Given the description of an element on the screen output the (x, y) to click on. 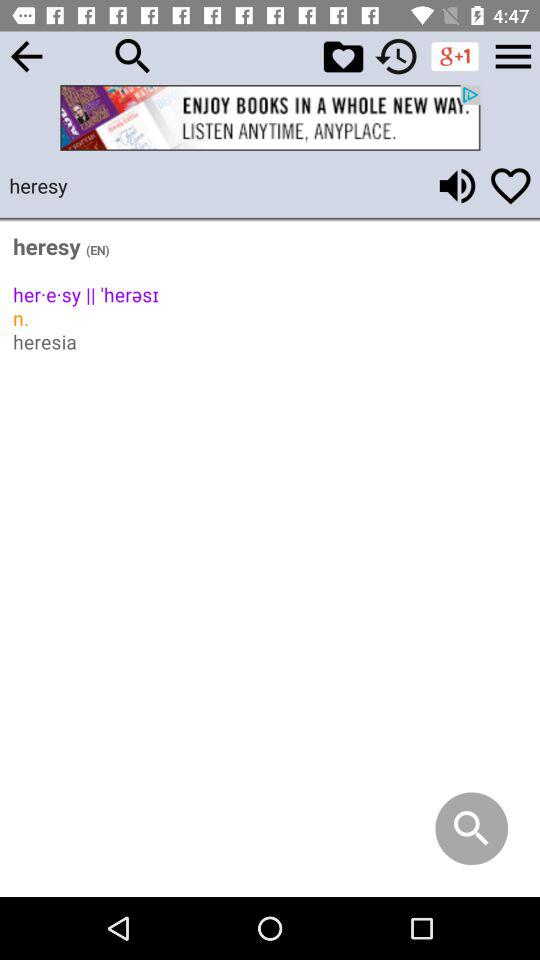
search option (133, 56)
